Given the description of an element on the screen output the (x, y) to click on. 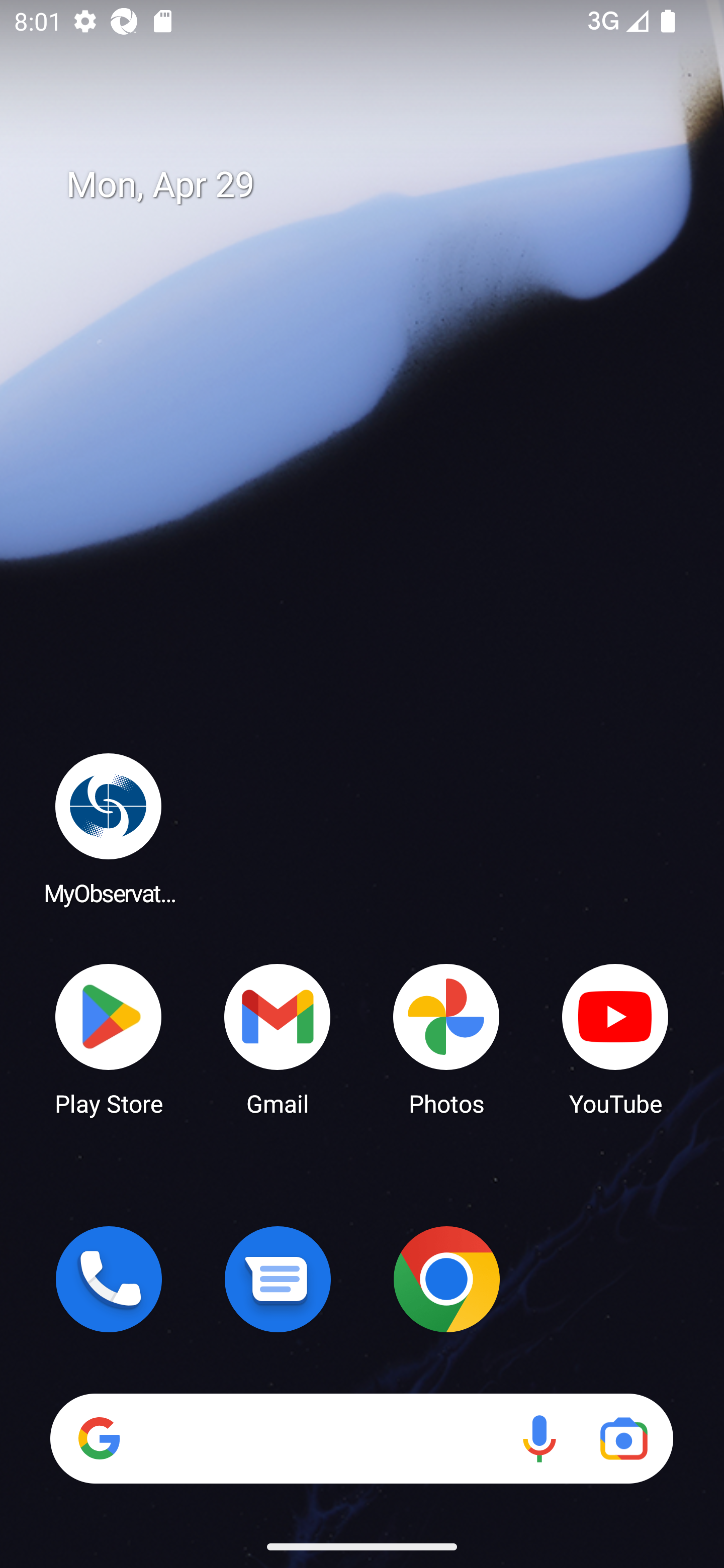
Mon, Apr 29 (375, 184)
MyObservatory (108, 828)
Play Store (108, 1038)
Gmail (277, 1038)
Photos (445, 1038)
YouTube (615, 1038)
Phone (108, 1279)
Messages (277, 1279)
Chrome (446, 1279)
Voice search (539, 1438)
Google Lens (623, 1438)
